Given the description of an element on the screen output the (x, y) to click on. 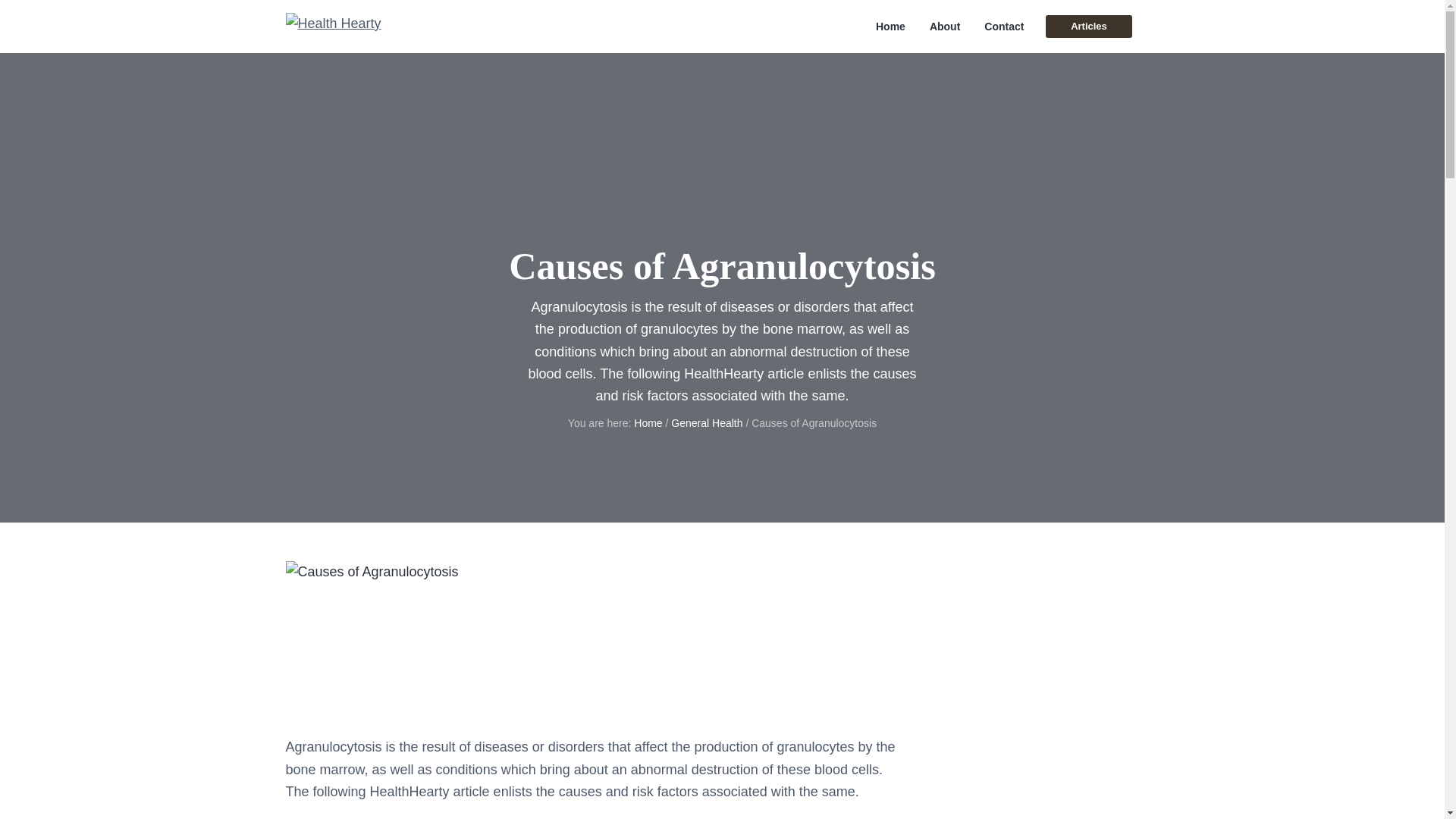
Articles (1087, 25)
About (944, 27)
Search (60, 18)
General Health (706, 422)
Home (890, 27)
Home (647, 422)
Contact (1003, 27)
